Given the description of an element on the screen output the (x, y) to click on. 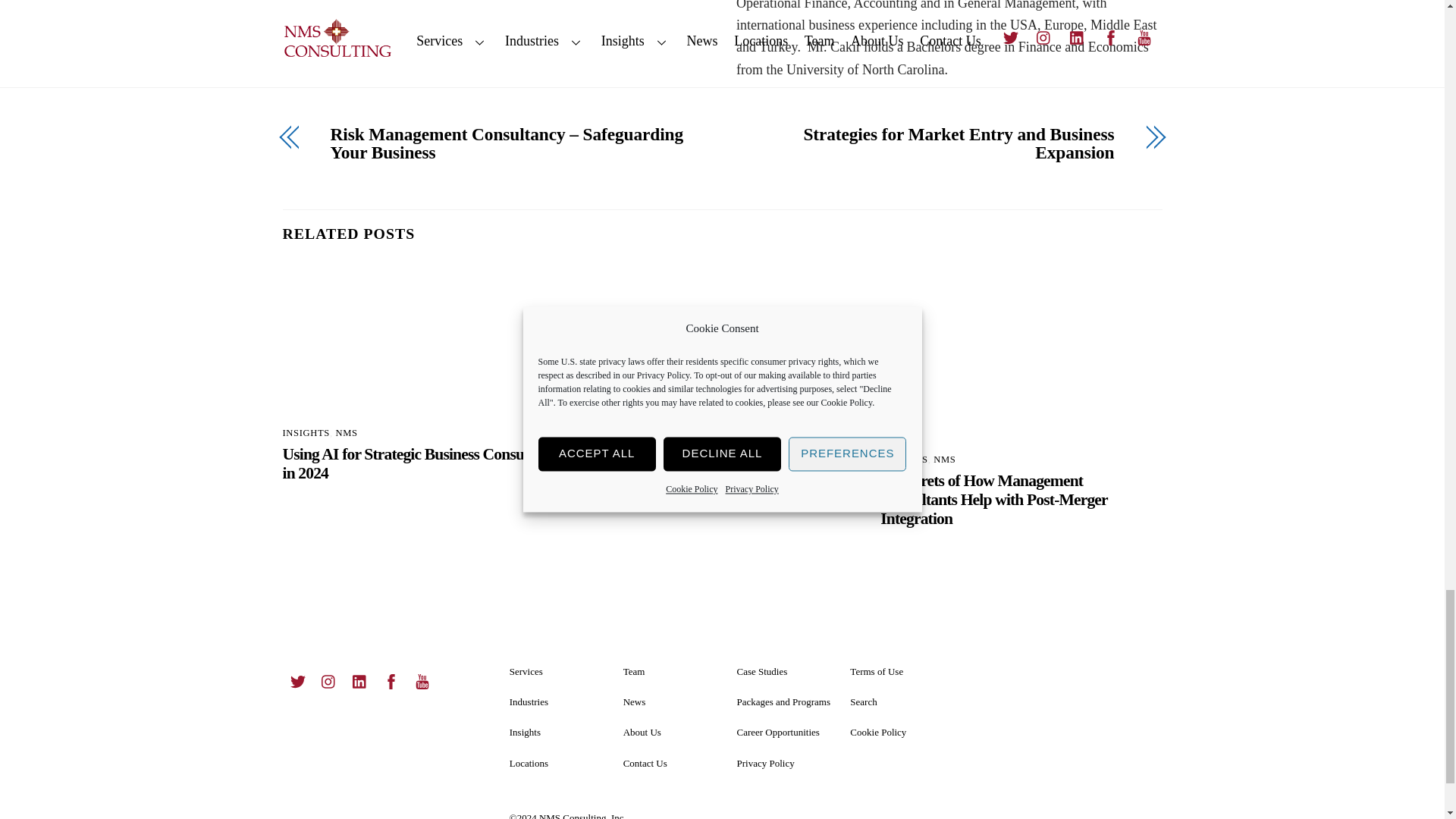
artificial intelligence (422, 339)
The Biggest Management Consulting Trends in 2024 (721, 353)
PMI image (1021, 352)
